Given the description of an element on the screen output the (x, y) to click on. 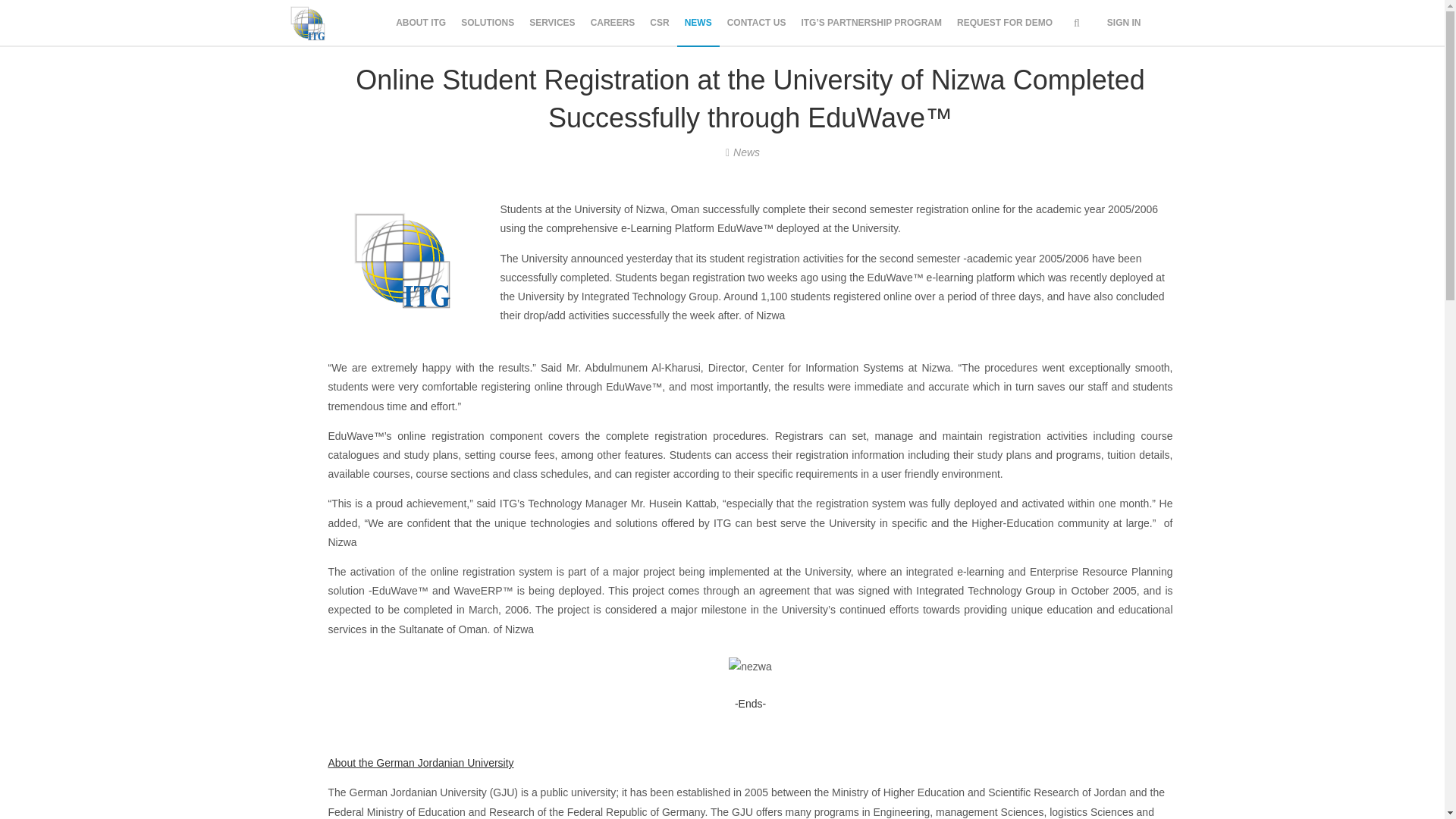
News (746, 152)
CONTACT US (756, 22)
ABOUT ITG (420, 22)
SERVICES (551, 22)
NEWS (698, 22)
REQUEST FOR DEMO (1004, 22)
SOLUTIONS (486, 22)
SIGN IN (1123, 22)
CAREERS (613, 22)
